Given the description of an element on the screen output the (x, y) to click on. 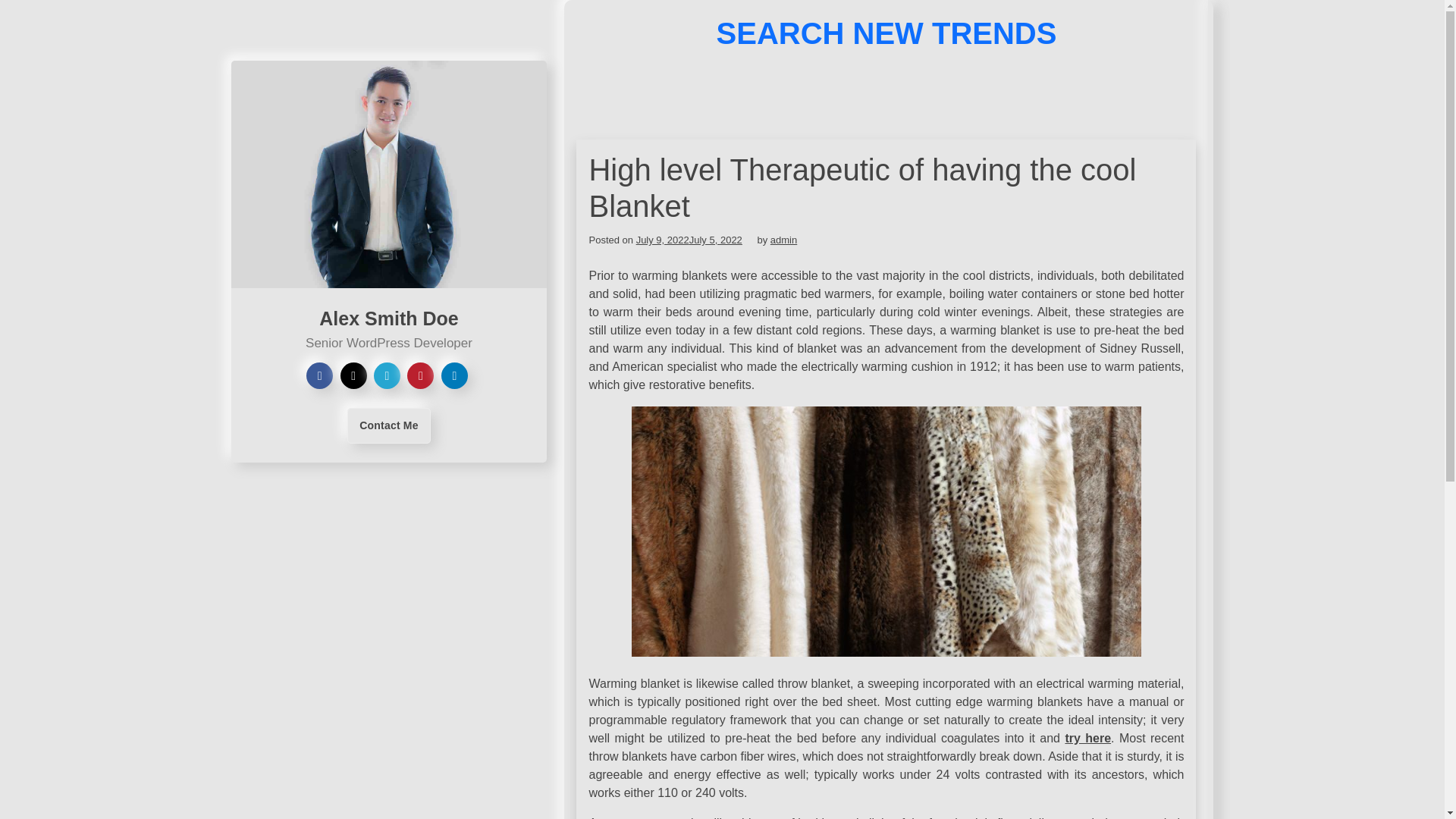
try here (1087, 738)
July 9, 2022July 5, 2022 (689, 239)
admin (783, 239)
Contact Me (388, 425)
SEARCH NEW TRENDS (886, 33)
